Given the description of an element on the screen output the (x, y) to click on. 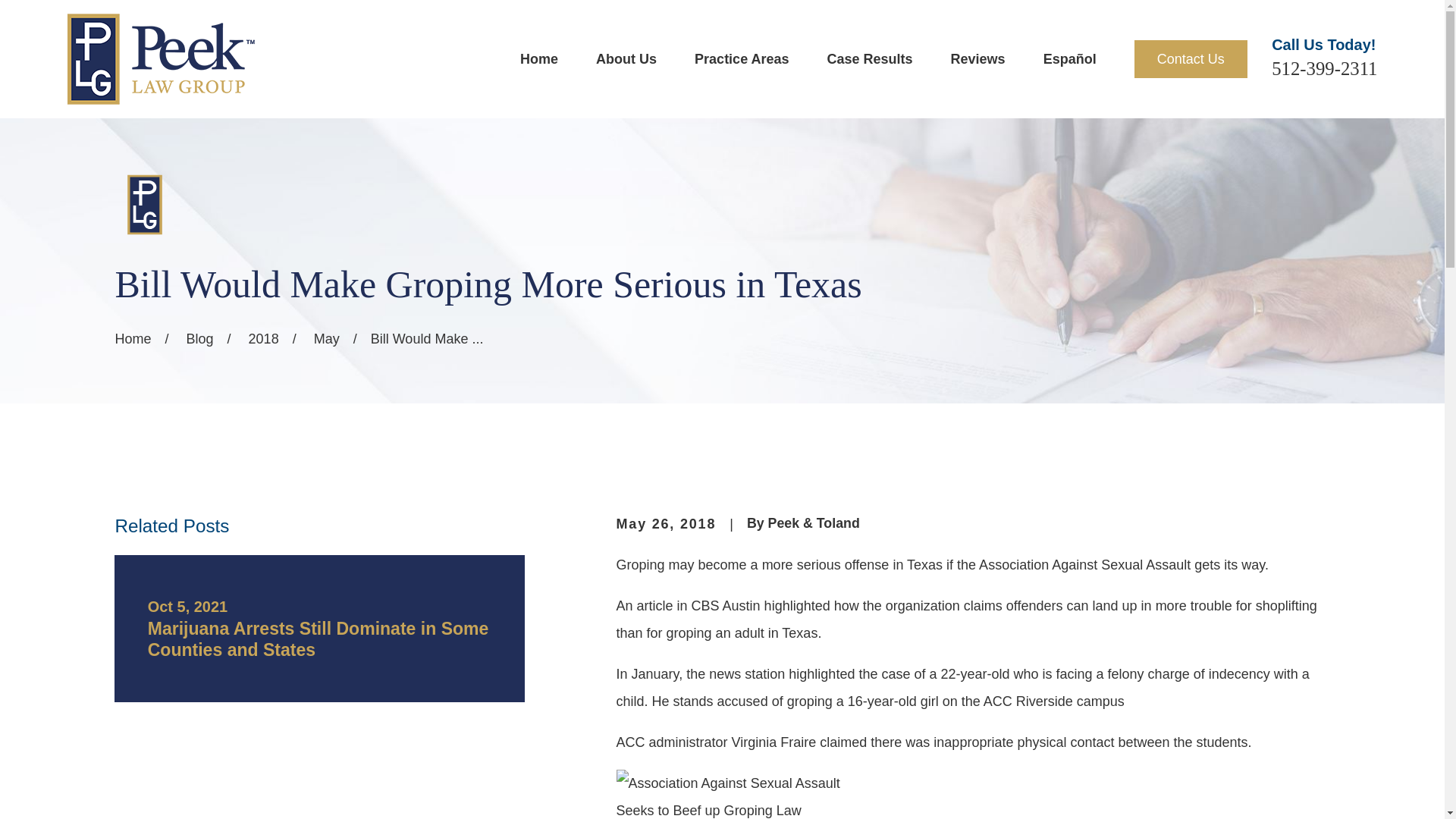
Reviews (978, 59)
Practice Areas (741, 59)
About Us (625, 59)
Go Home (133, 338)
Home (159, 58)
Case Results (869, 59)
